Given the description of an element on the screen output the (x, y) to click on. 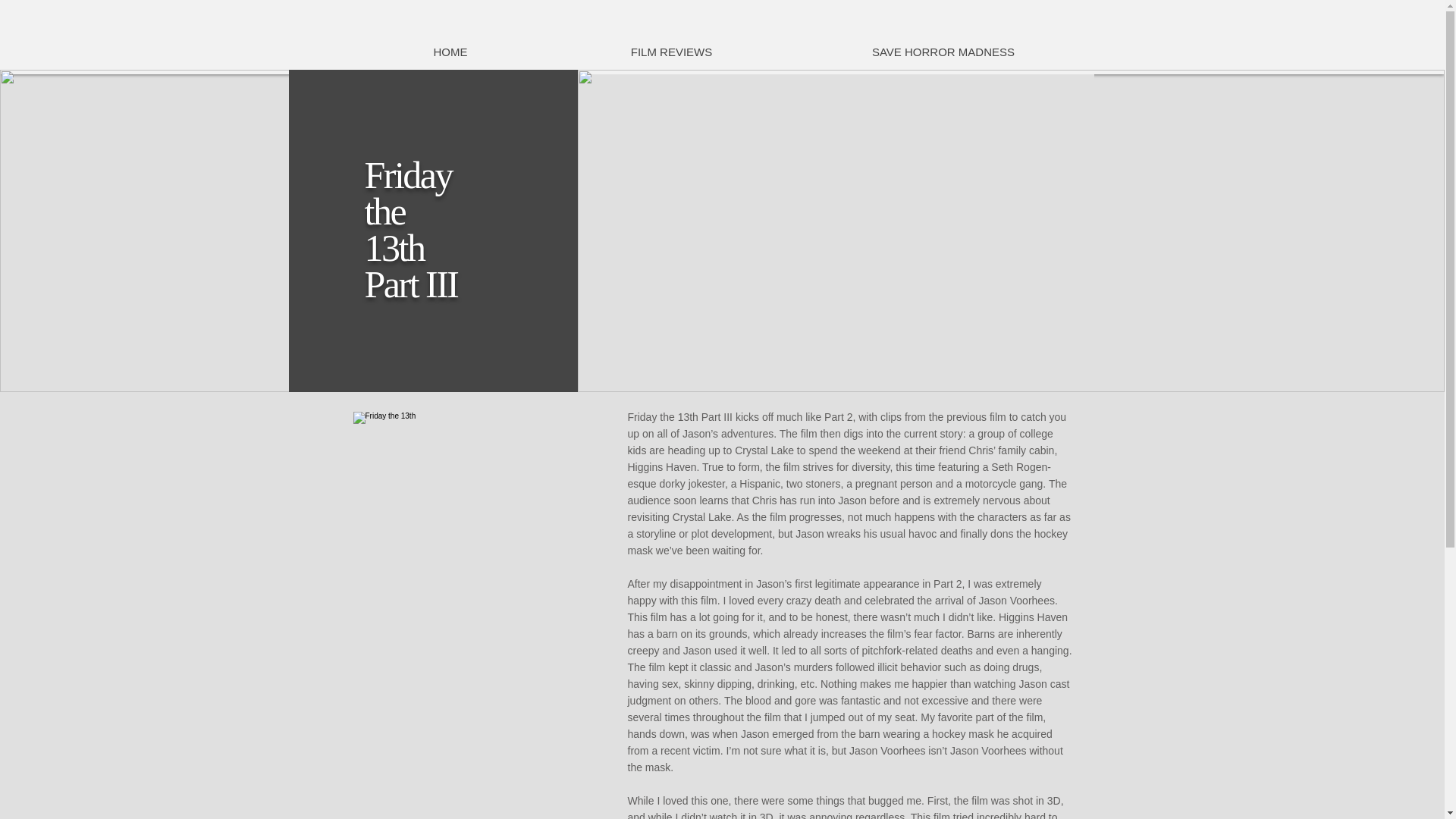
Friday (407, 174)
SAVE HORROR MADNESS (942, 52)
FILM REVIEWS (671, 52)
HOME (450, 52)
